Given the description of an element on the screen output the (x, y) to click on. 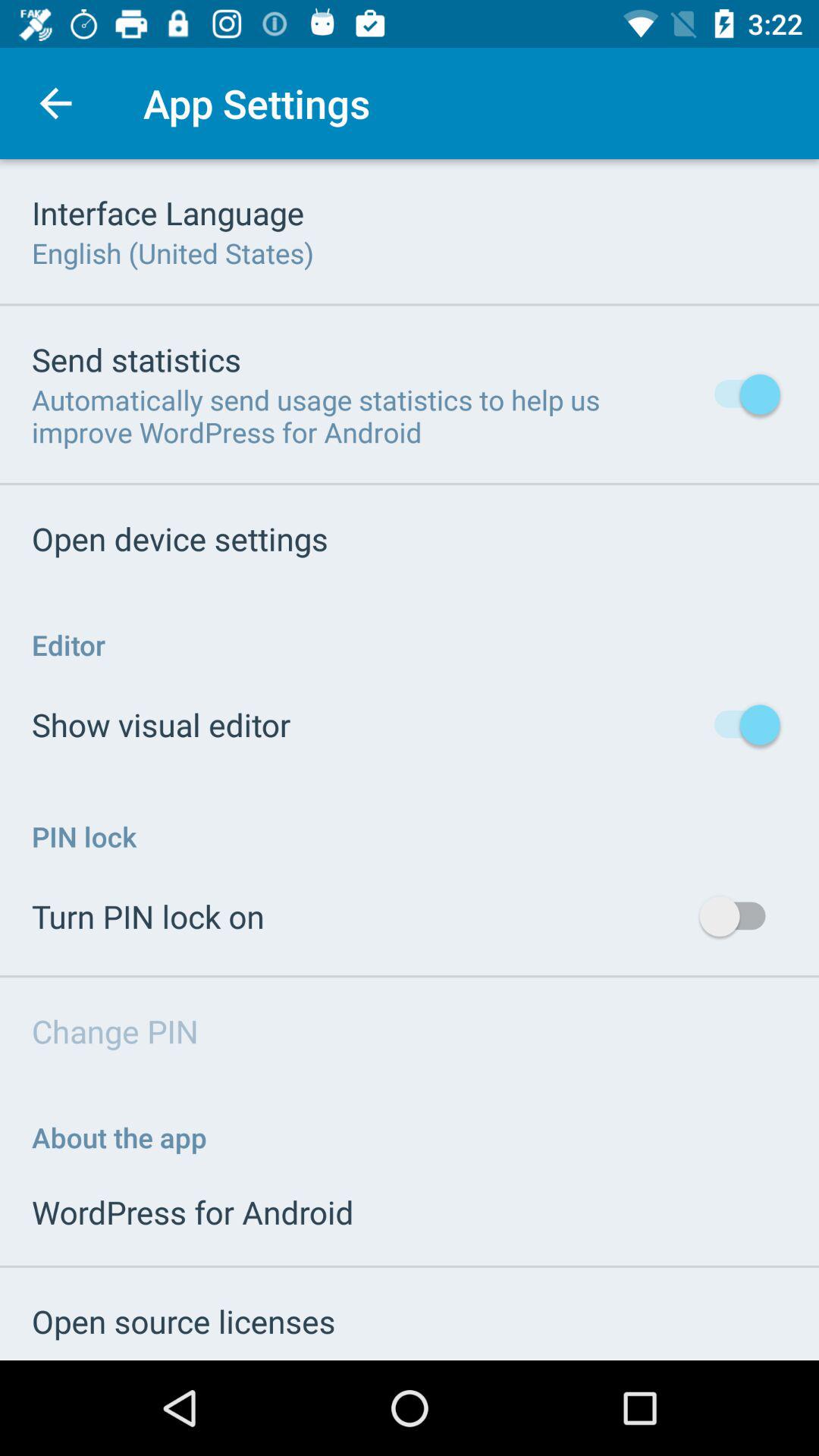
tap the icon above the open device settings (361, 416)
